Given the description of an element on the screen output the (x, y) to click on. 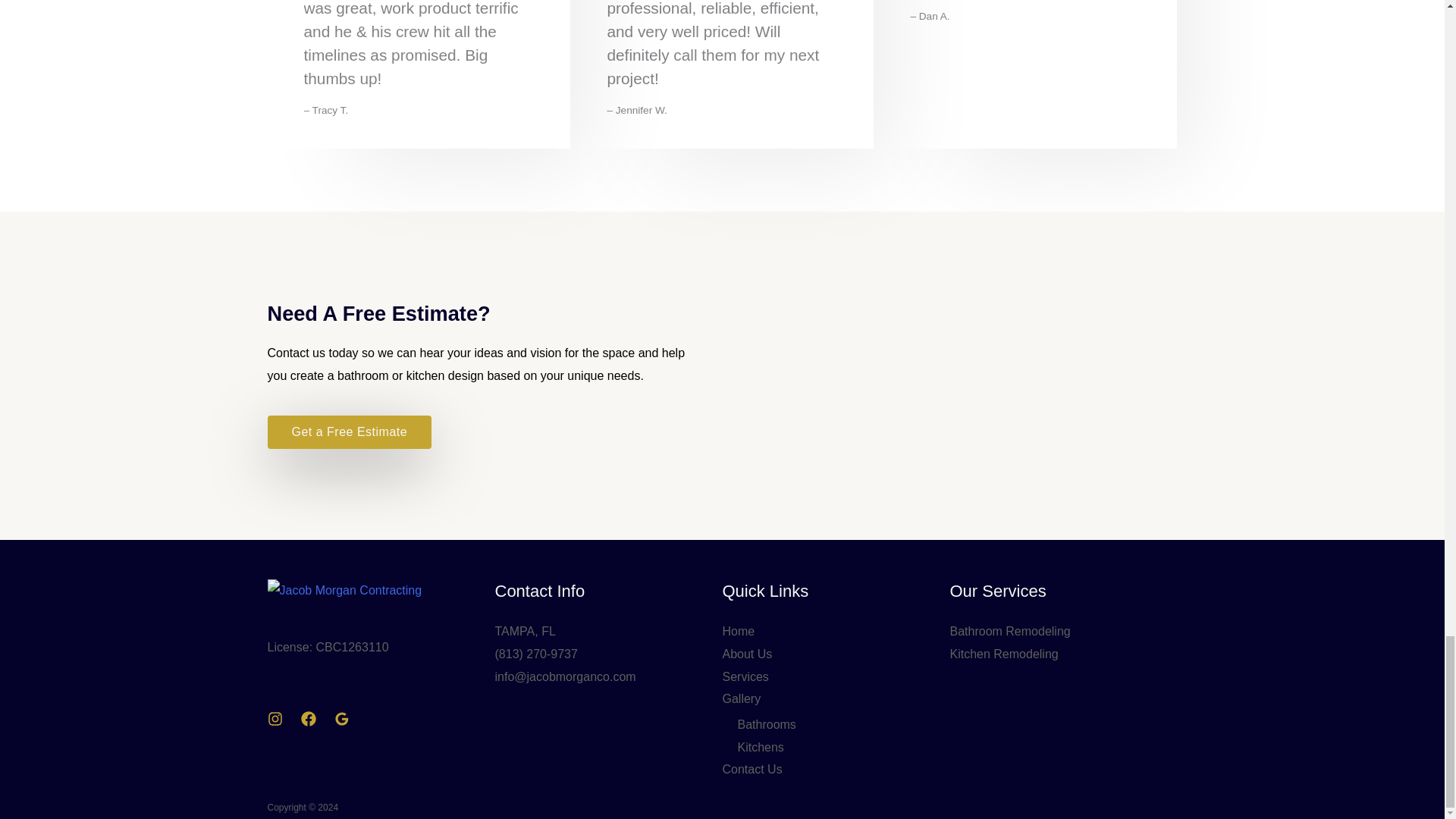
Get a Free Estimate (348, 431)
